Given the description of an element on the screen output the (x, y) to click on. 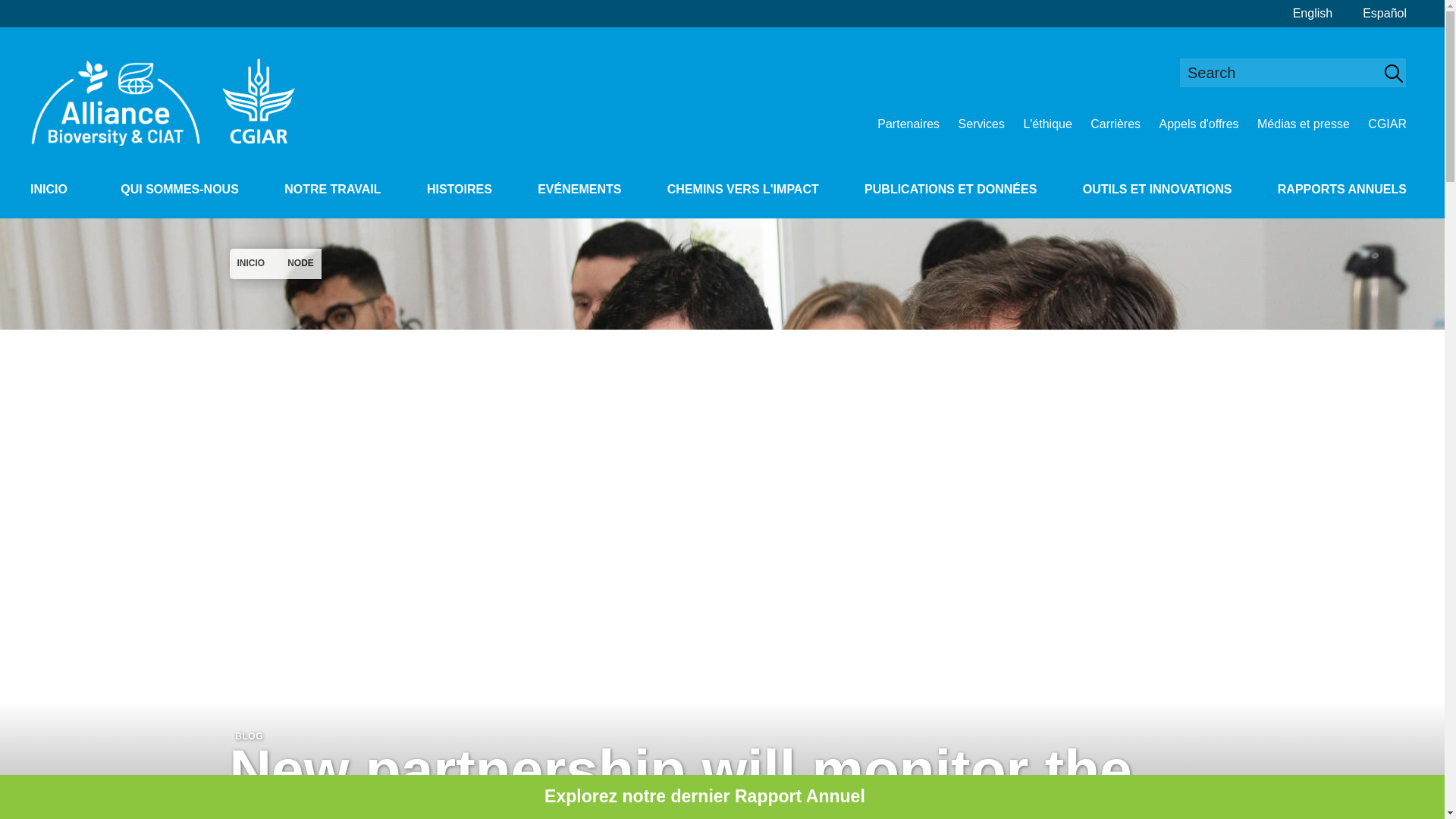
RAPPORTS ANNUELS (1341, 189)
English (1312, 13)
Services (980, 123)
CHEMINS VERS L'IMPACT (743, 189)
INICIO (49, 189)
NOTRE TRAVAIL (332, 189)
HISTOIRES (459, 189)
OUTILS ET INNOVATIONS (1157, 189)
QUI SOMMES-NOUS (179, 189)
